Given the description of an element on the screen output the (x, y) to click on. 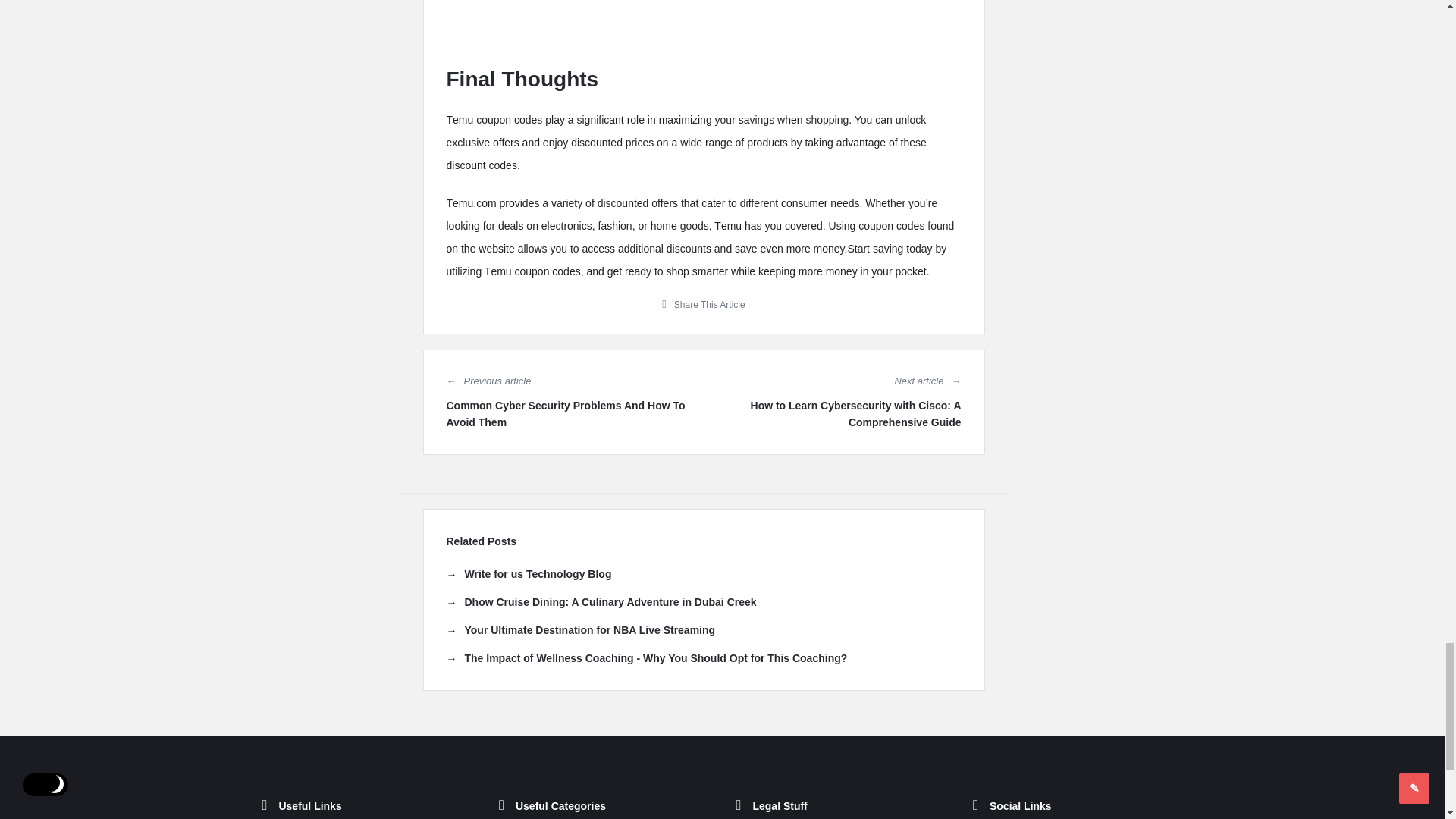
Write for us Technology Blog (528, 573)
Your Ultimate Destination for NBA Live Streaming (579, 629)
Dhow Cruise Dining: A Culinary Adventure in Dubai Creek (600, 601)
